Given the description of an element on the screen output the (x, y) to click on. 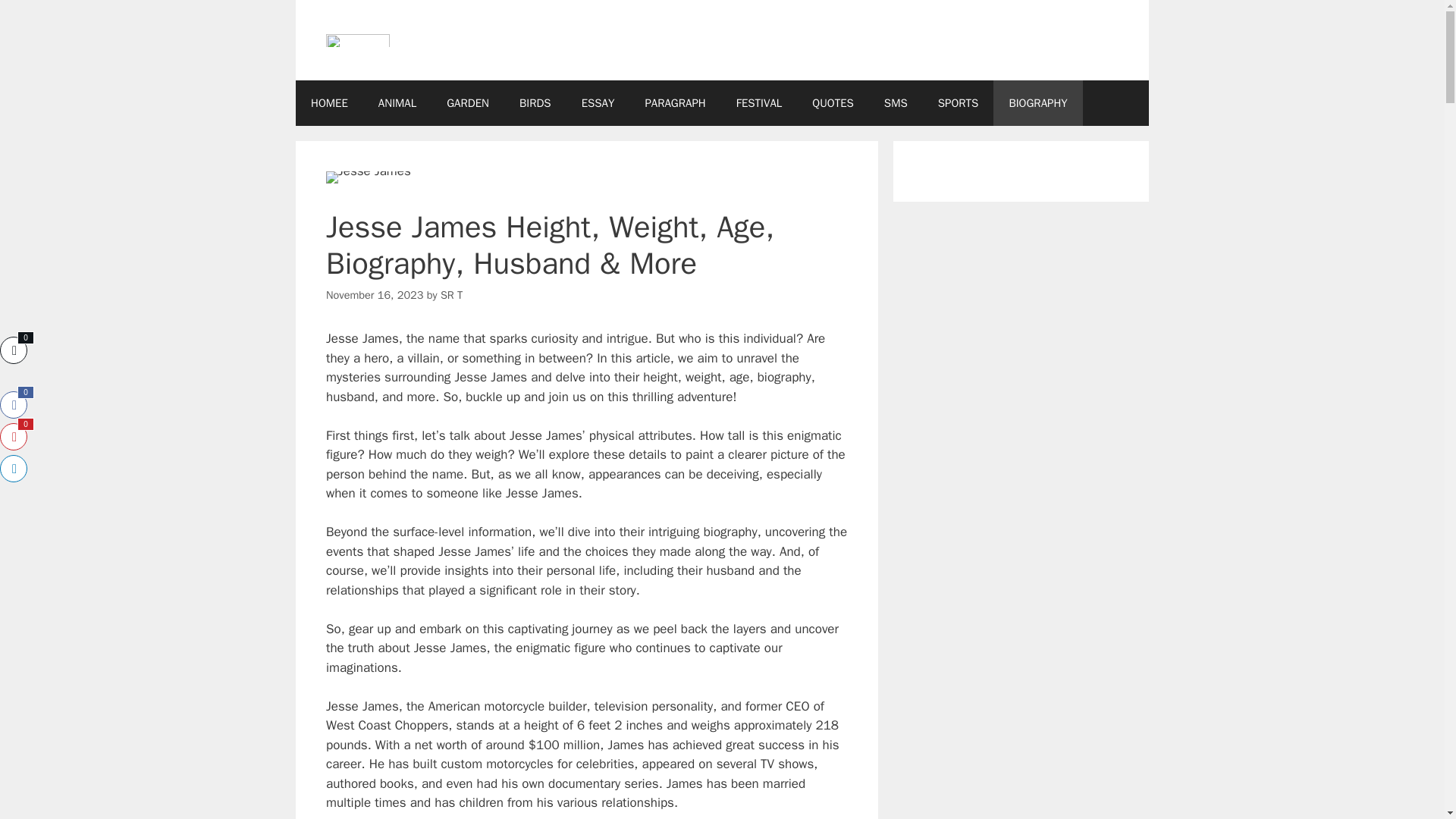
HOMEE (328, 103)
SMS (896, 103)
BIOGRAPHY (1036, 103)
BIRDS (534, 103)
SR T (452, 295)
SPORTS (958, 103)
FESTIVAL (758, 103)
GARDEN (466, 103)
ESSAY (598, 103)
QUOTES (832, 103)
